Given the description of an element on the screen output the (x, y) to click on. 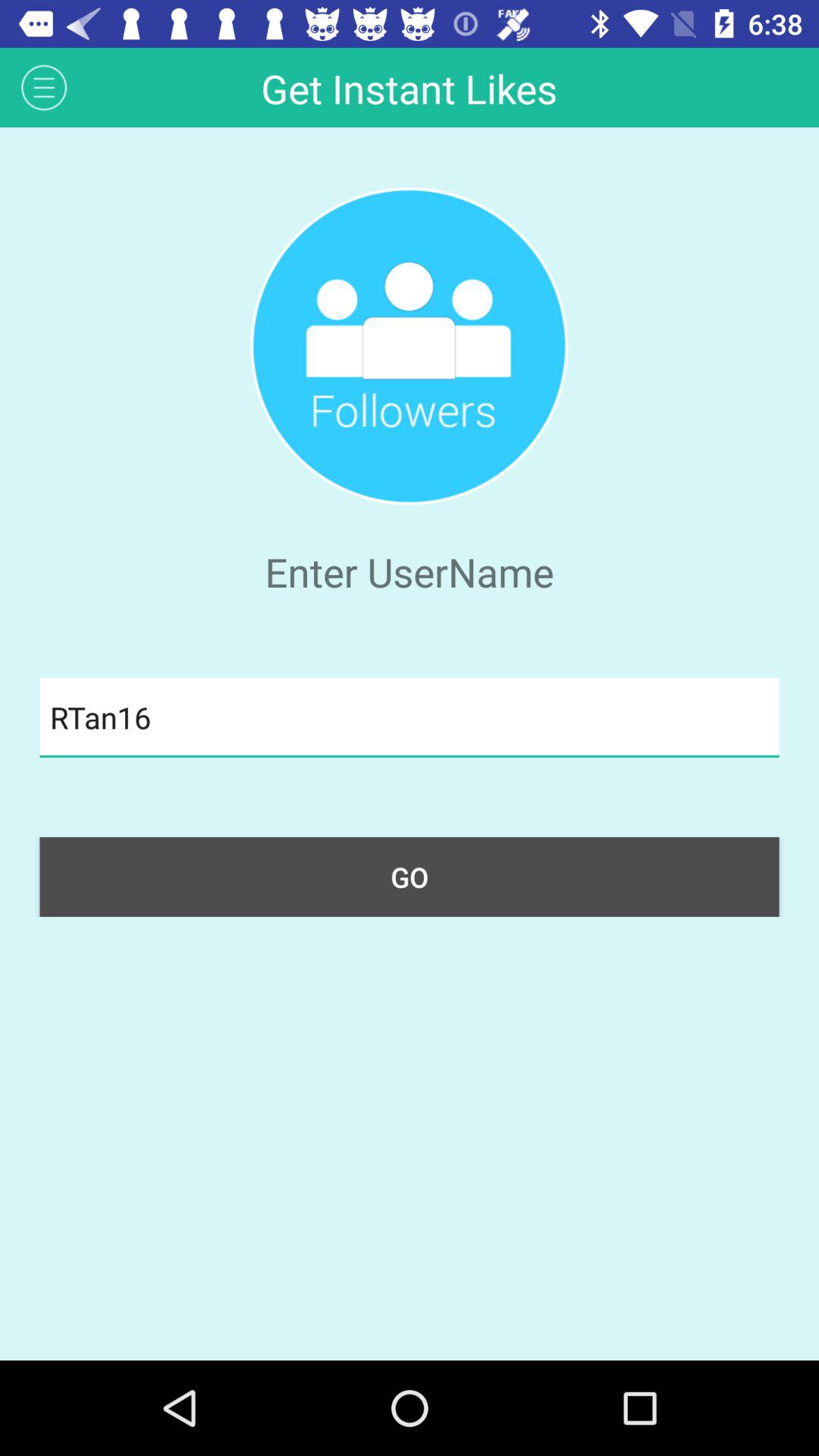
turn on button above go item (409, 717)
